Given the description of an element on the screen output the (x, y) to click on. 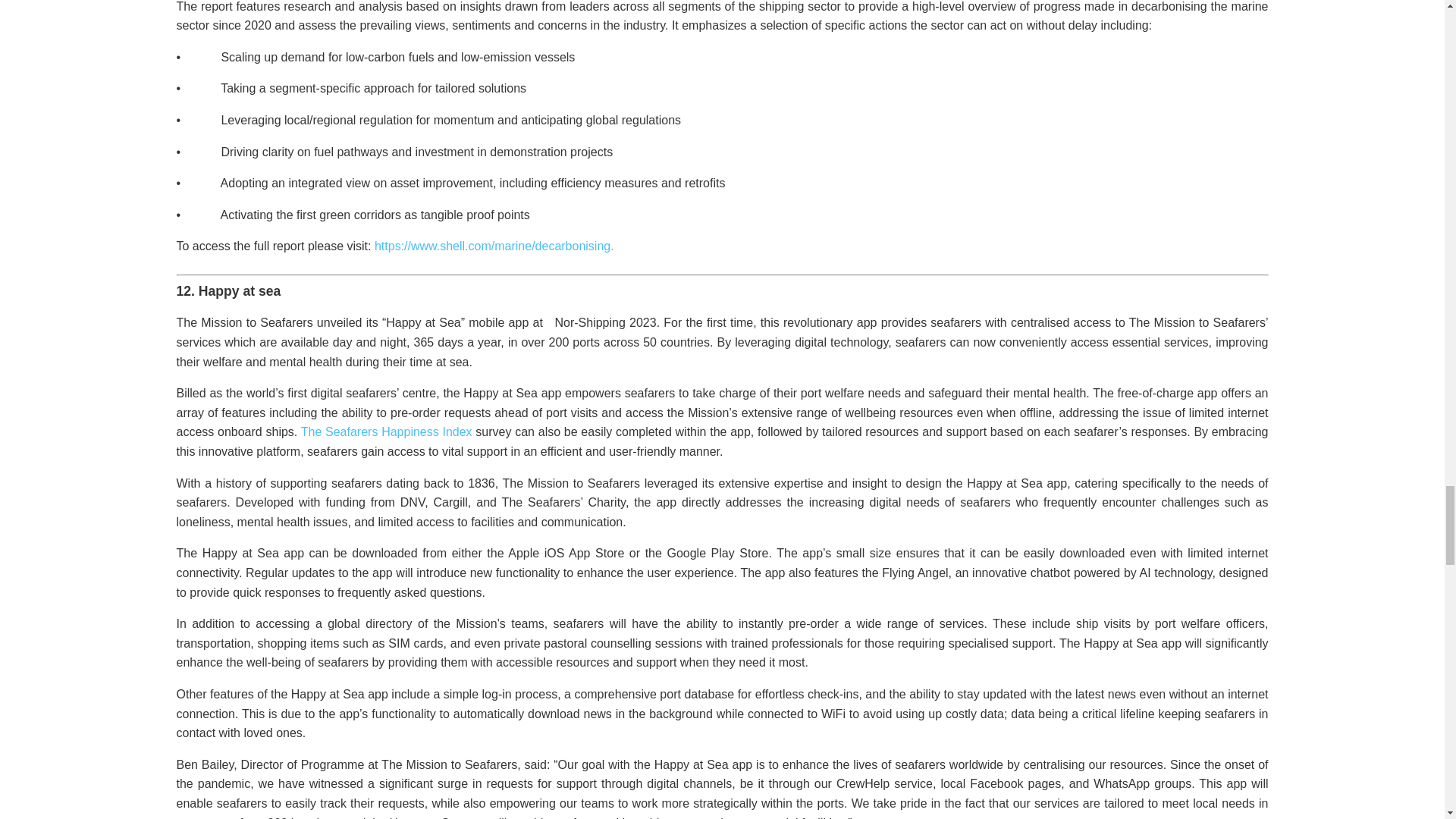
The Seafarers Happiness Index (386, 431)
